Given the description of an element on the screen output the (x, y) to click on. 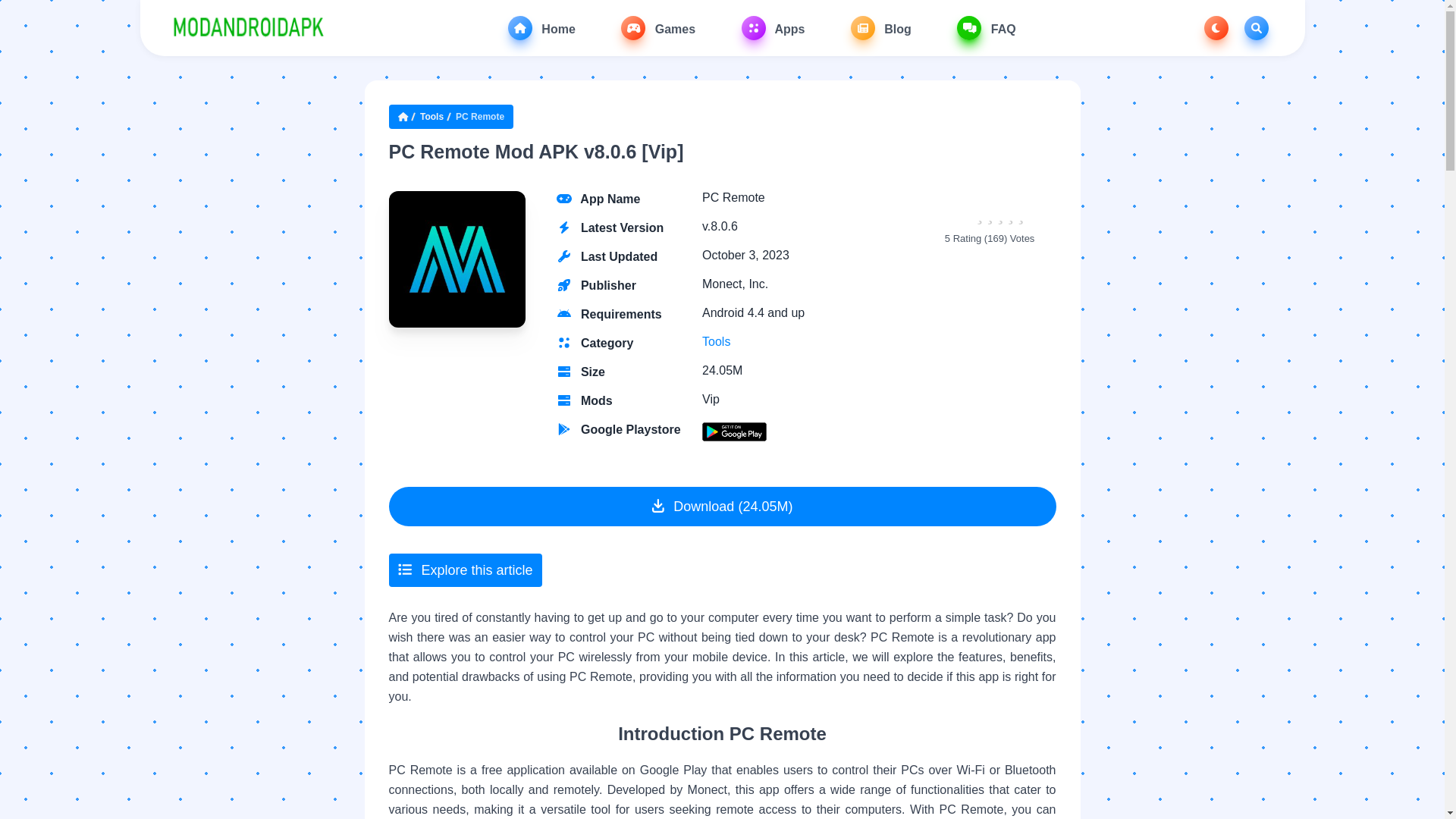
Tools (715, 341)
Search (1255, 27)
Dark Mode (1216, 27)
Apps (773, 27)
Explore this article (464, 570)
Blog (880, 27)
Tools (431, 116)
Games (658, 27)
FAQ (985, 27)
Home (541, 27)
